Given the description of an element on the screen output the (x, y) to click on. 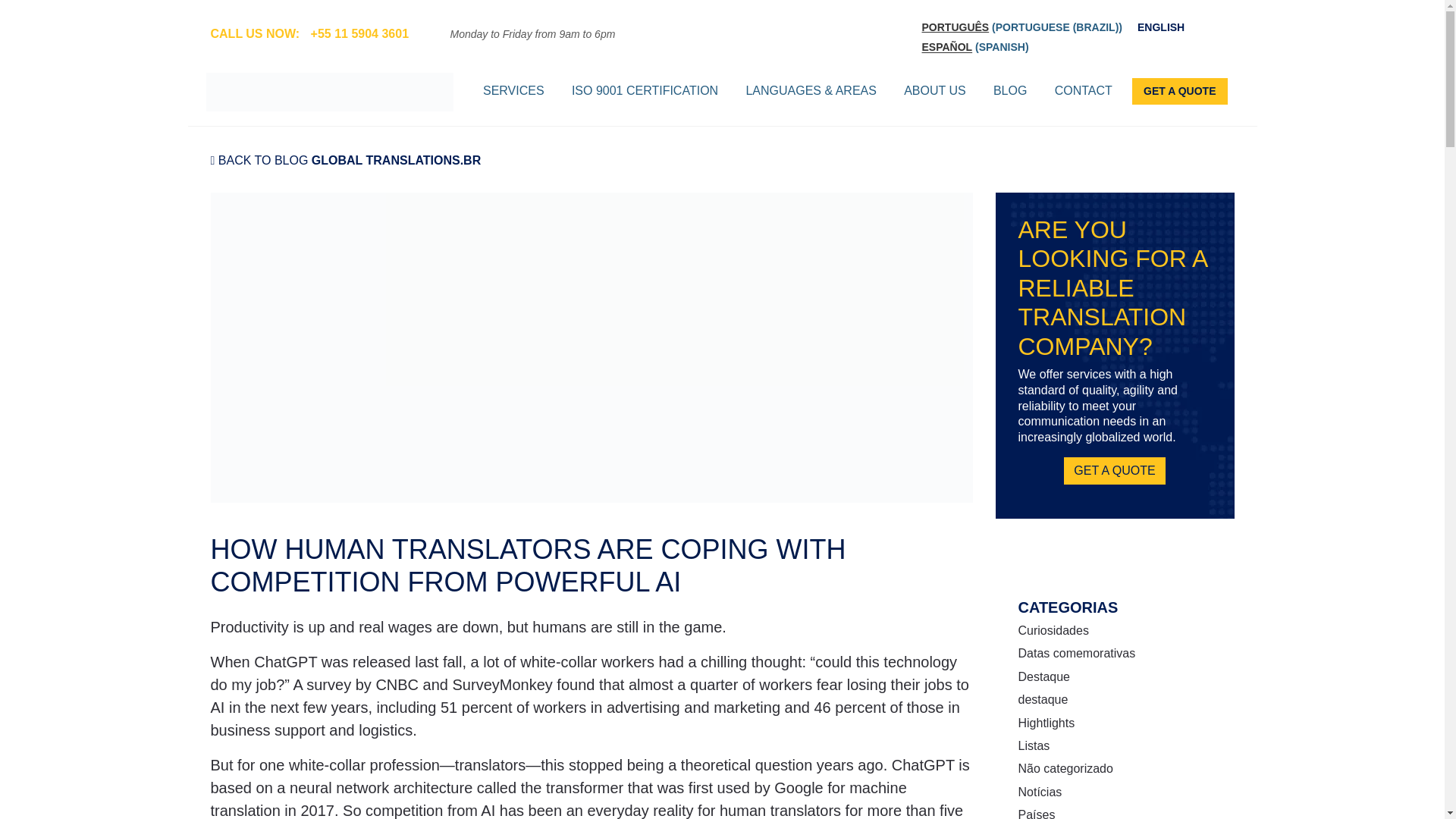
GET A QUOTE (1179, 90)
Skip to content (12, 12)
BLOG (1009, 90)
ISO 9001 CERTIFICATION (644, 90)
ABOUT US (935, 90)
SERVICES (513, 90)
CONTACT (1082, 90)
ENGLISH (1160, 26)
